Given the description of an element on the screen output the (x, y) to click on. 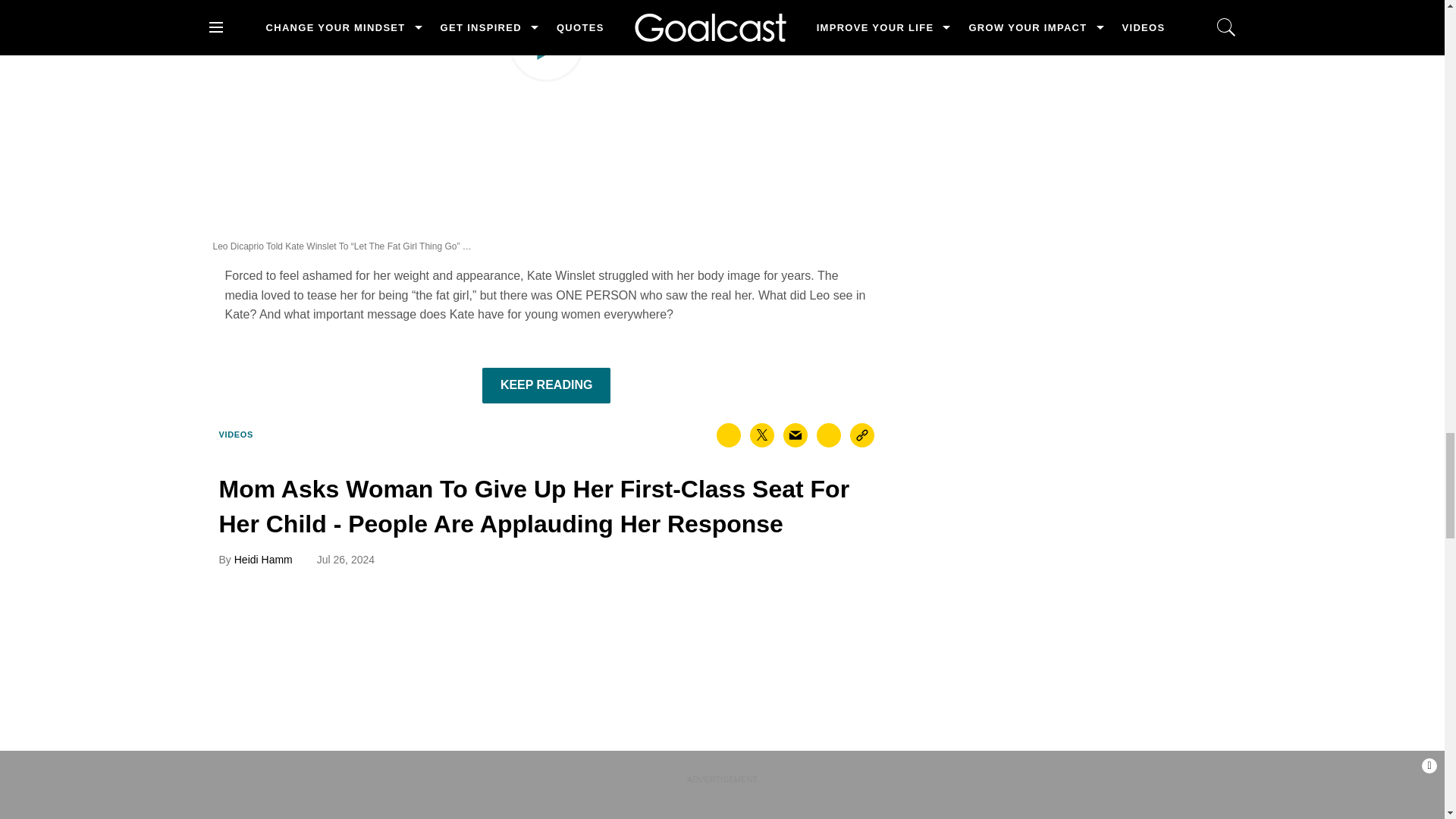
Copy this link to clipboard (862, 435)
